Given the description of an element on the screen output the (x, y) to click on. 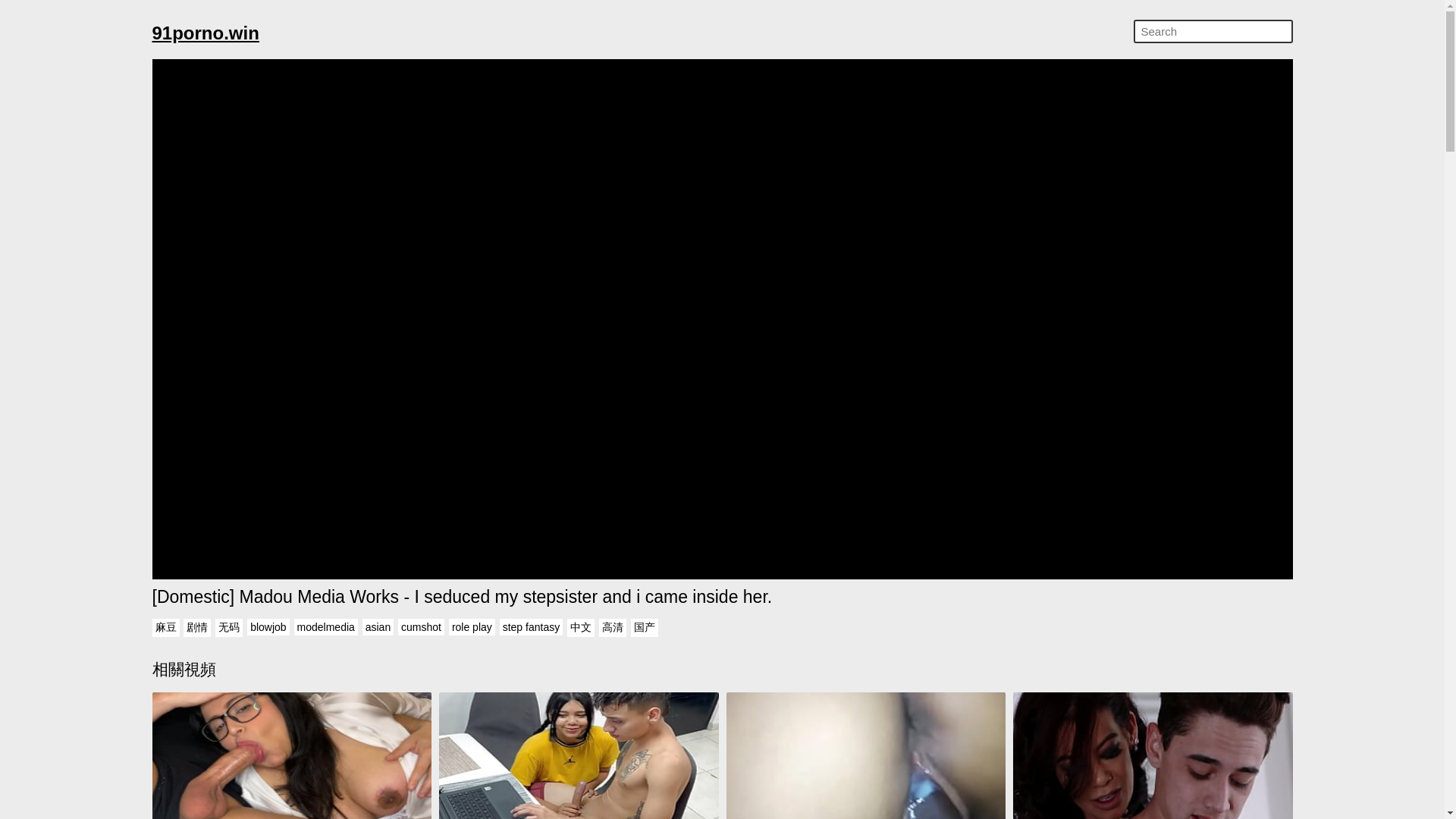
cumshot (420, 627)
blowjob (267, 627)
modelmedia (326, 627)
step fantasy (531, 627)
role play (471, 627)
asian (377, 627)
91porno.win (205, 33)
